Given the description of an element on the screen output the (x, y) to click on. 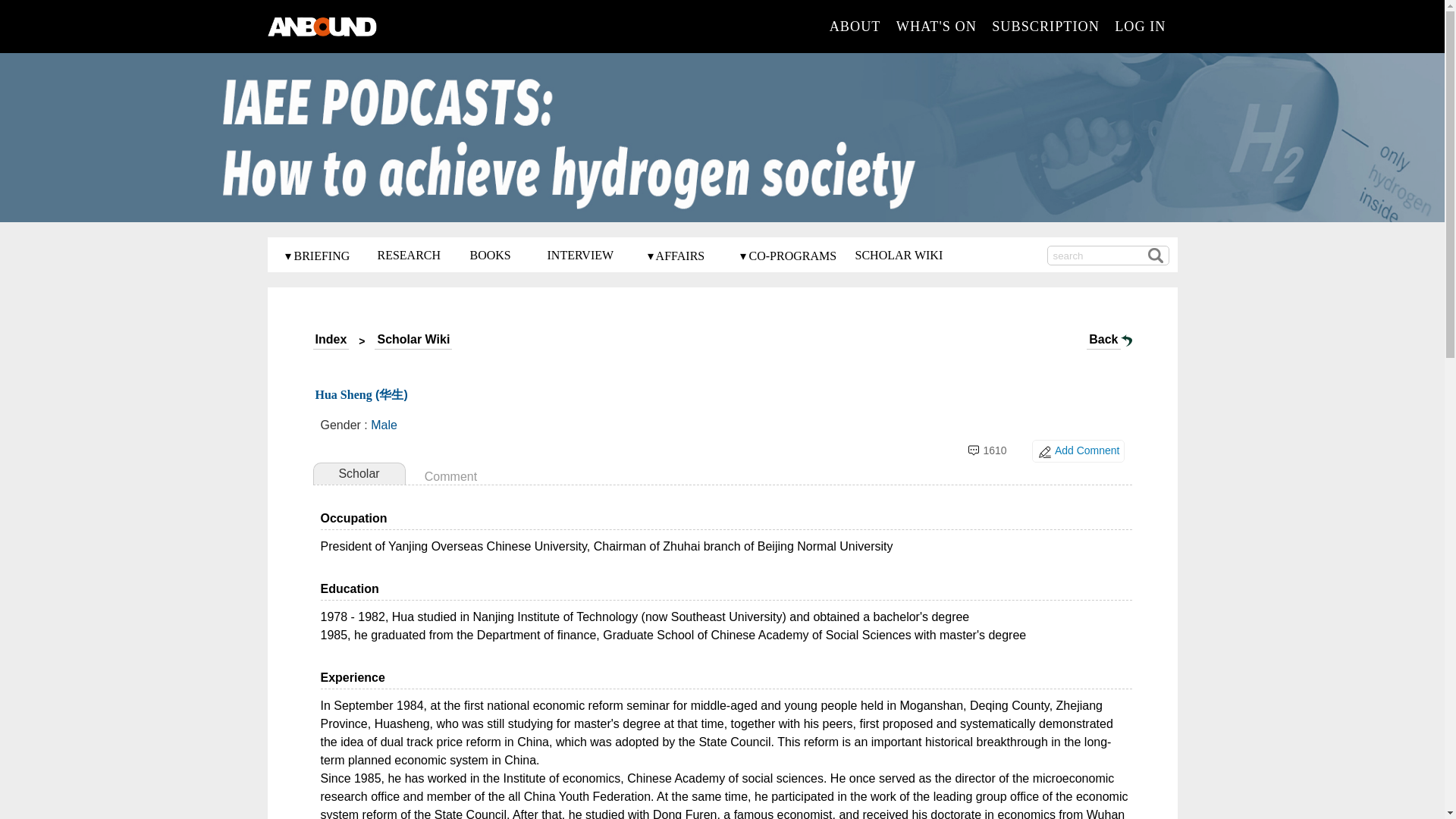
1610 (994, 450)
Back (1102, 340)
LOG IN (1140, 26)
Scholar Wiki (412, 340)
ABOUT (854, 26)
SCHOLAR WIKI (899, 254)
SUBSCRIPTION (1045, 26)
Index (331, 340)
RESEARCH (409, 254)
WHAT'S ON (936, 26)
BOOKS (490, 254)
INTERVIEW (580, 254)
